Given the description of an element on the screen output the (x, y) to click on. 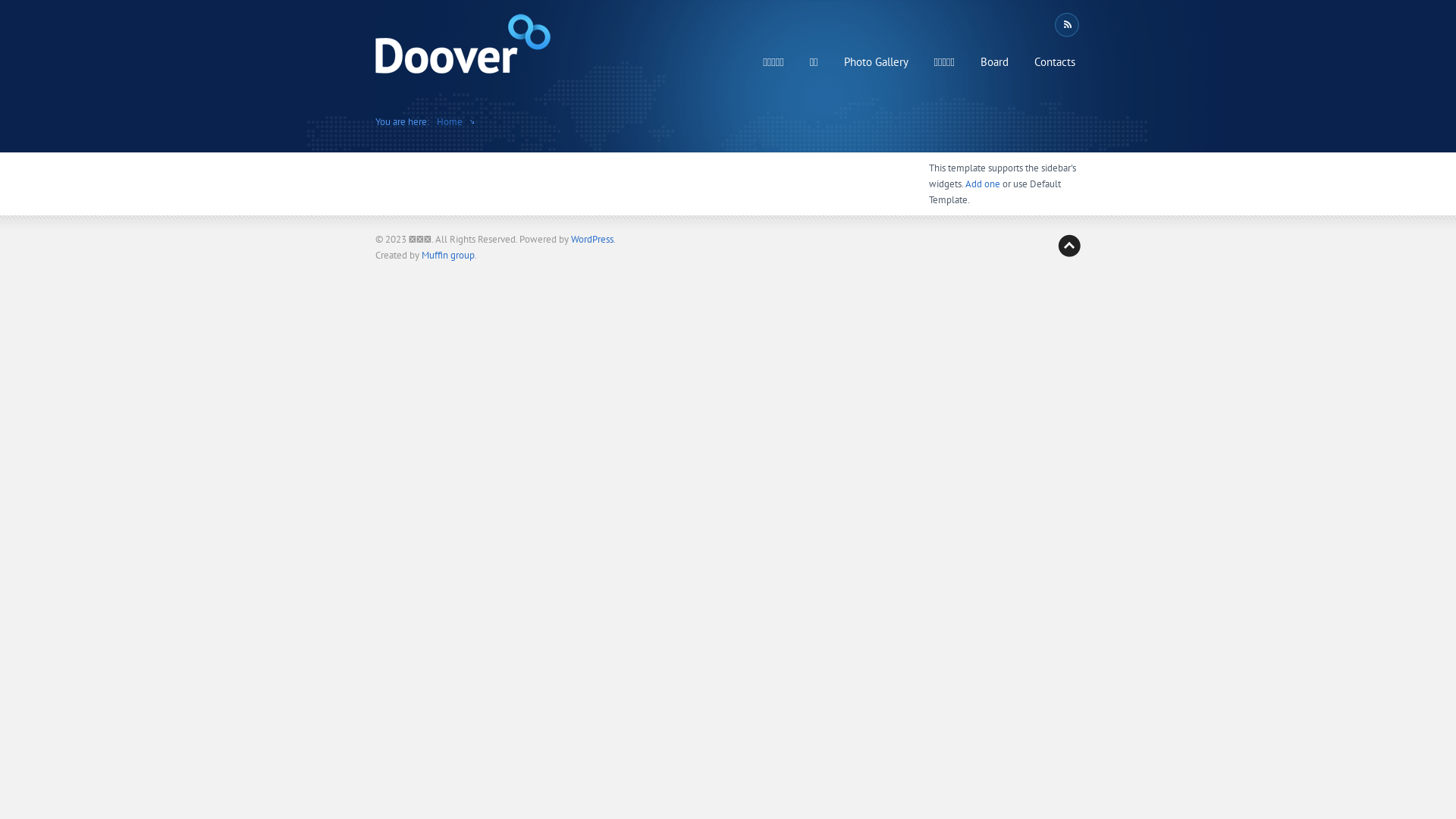
WordPress Element type: text (592, 238)
RSS Element type: text (1066, 24)
Muffin group Element type: text (447, 254)
Home Element type: text (449, 121)
Back to top Element type: text (1068, 245)
Board Element type: text (994, 61)
Contacts Element type: text (1054, 61)
Add one Element type: text (982, 183)
Photo Gallery Element type: text (875, 61)
